Given the description of an element on the screen output the (x, y) to click on. 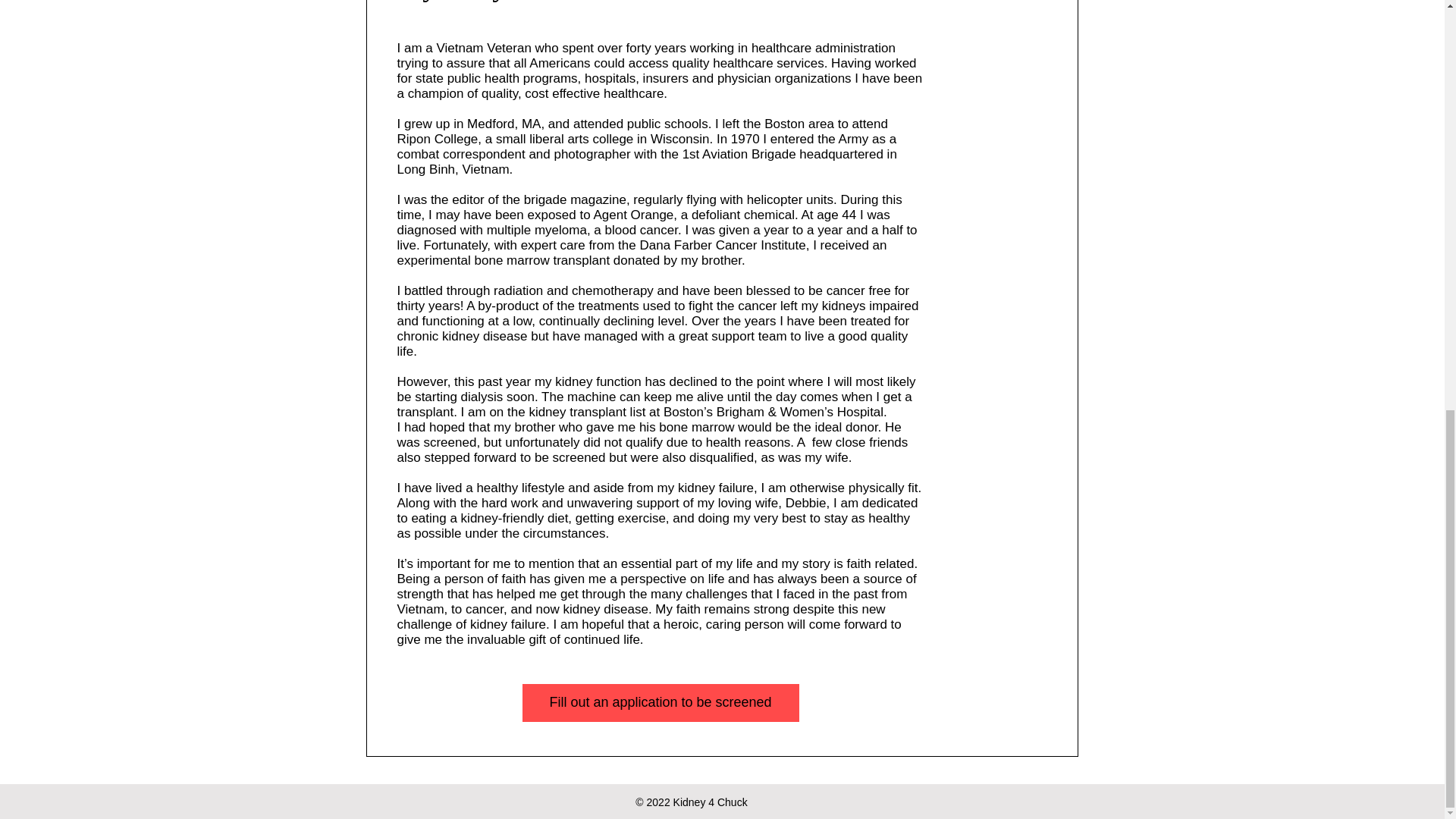
Fill out an application to be screened (659, 702)
